Given the description of an element on the screen output the (x, y) to click on. 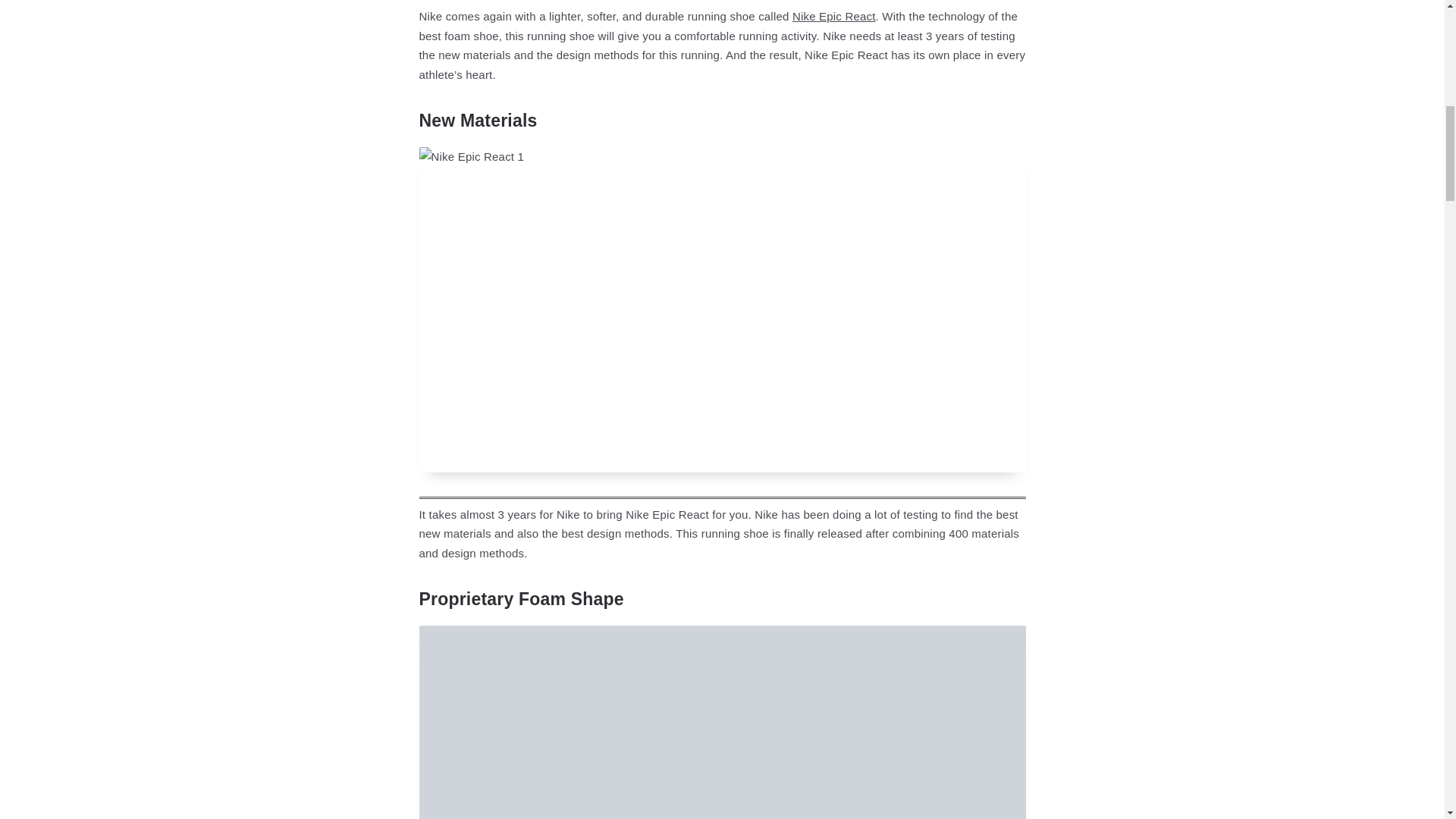
Nike Epic React (834, 15)
